Given the description of an element on the screen output the (x, y) to click on. 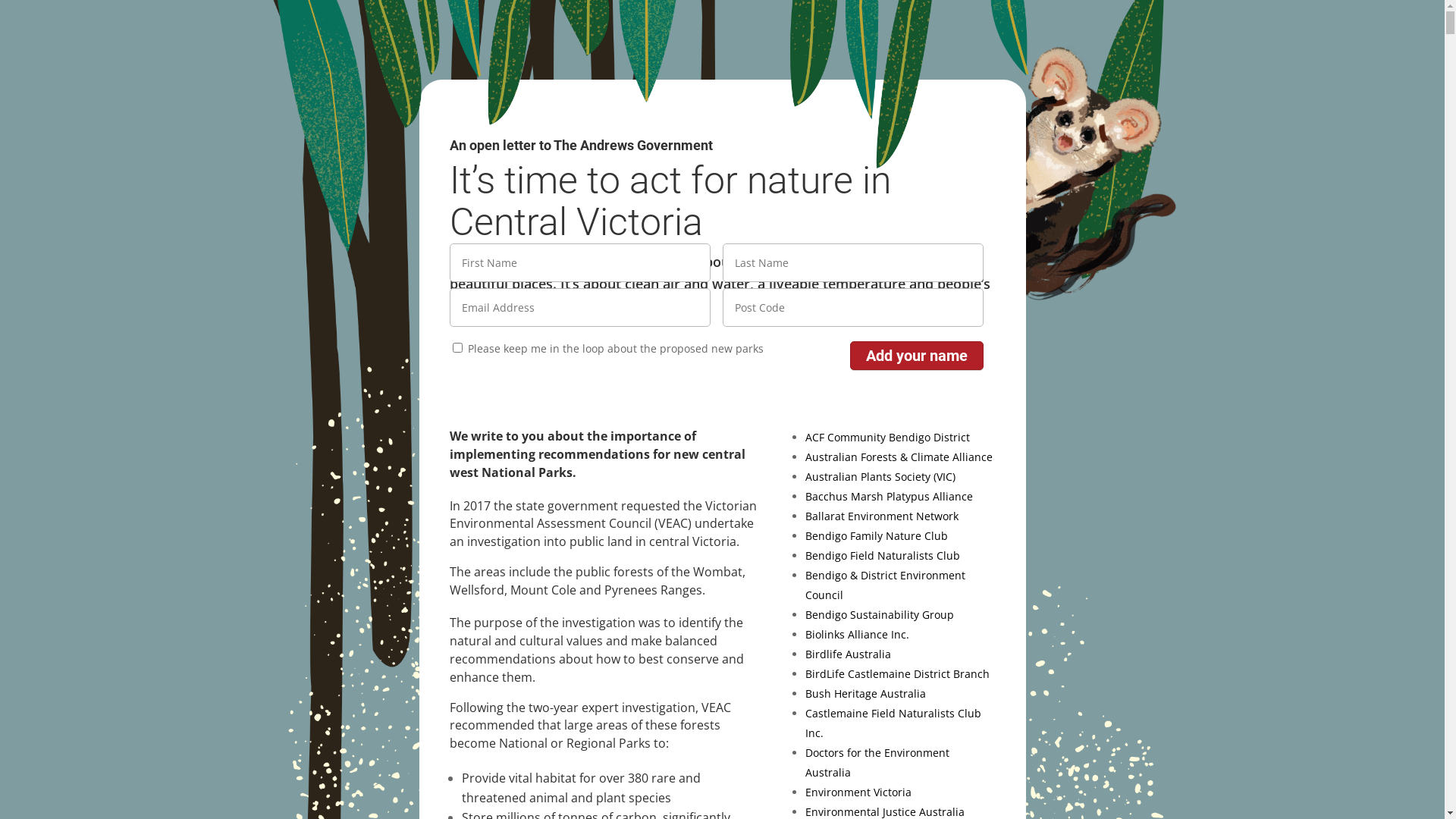
Add your name Element type: text (915, 355)
leaves Element type: hover (698, 89)
possum2 Element type: hover (1100, 174)
